Given the description of an element on the screen output the (x, y) to click on. 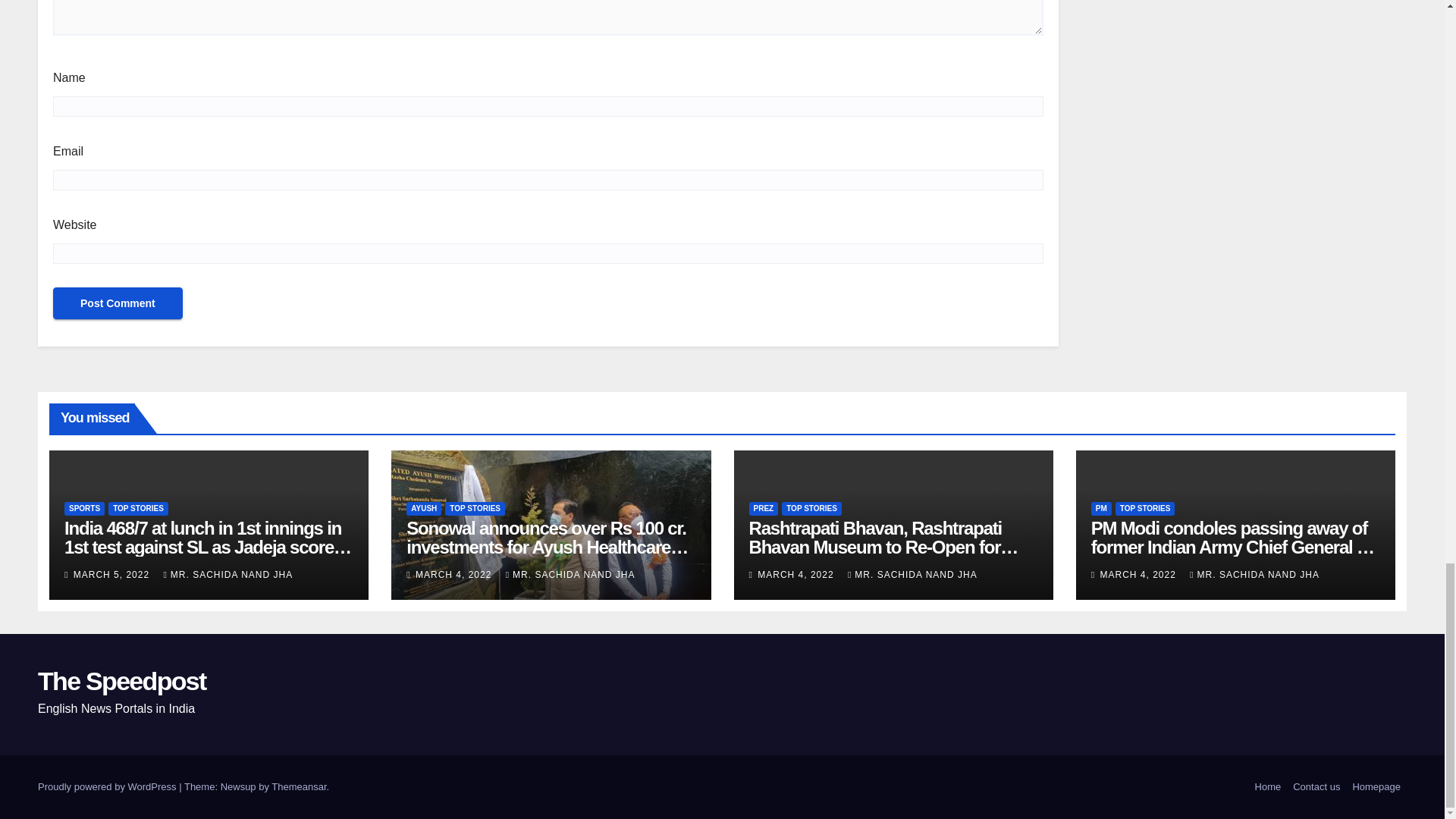
Post Comment (117, 303)
